Given the description of an element on the screen output the (x, y) to click on. 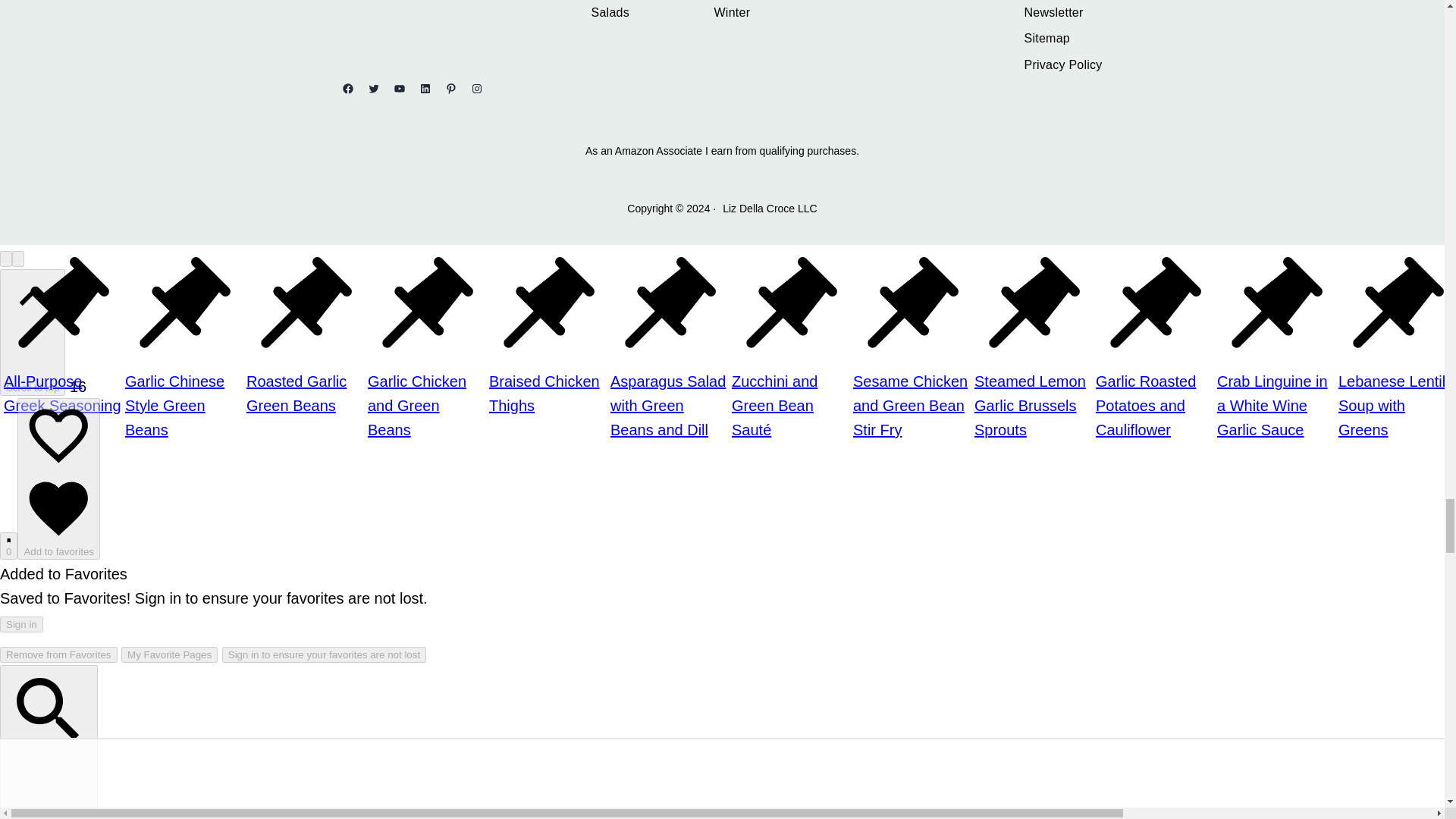
Salad Recipes (609, 12)
Facebook (346, 88)
